Given the description of an element on the screen output the (x, y) to click on. 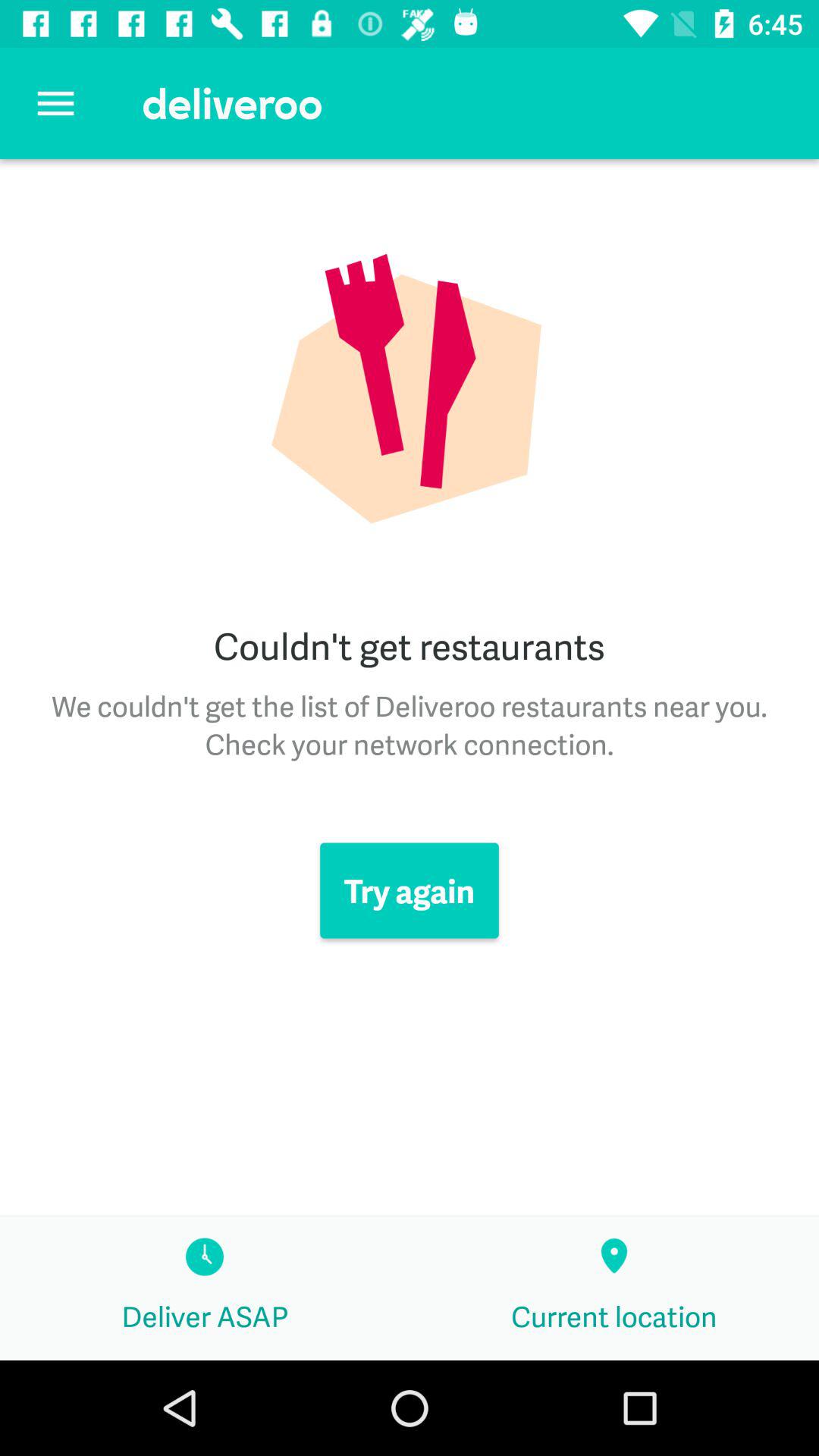
press the current location (614, 1288)
